Given the description of an element on the screen output the (x, y) to click on. 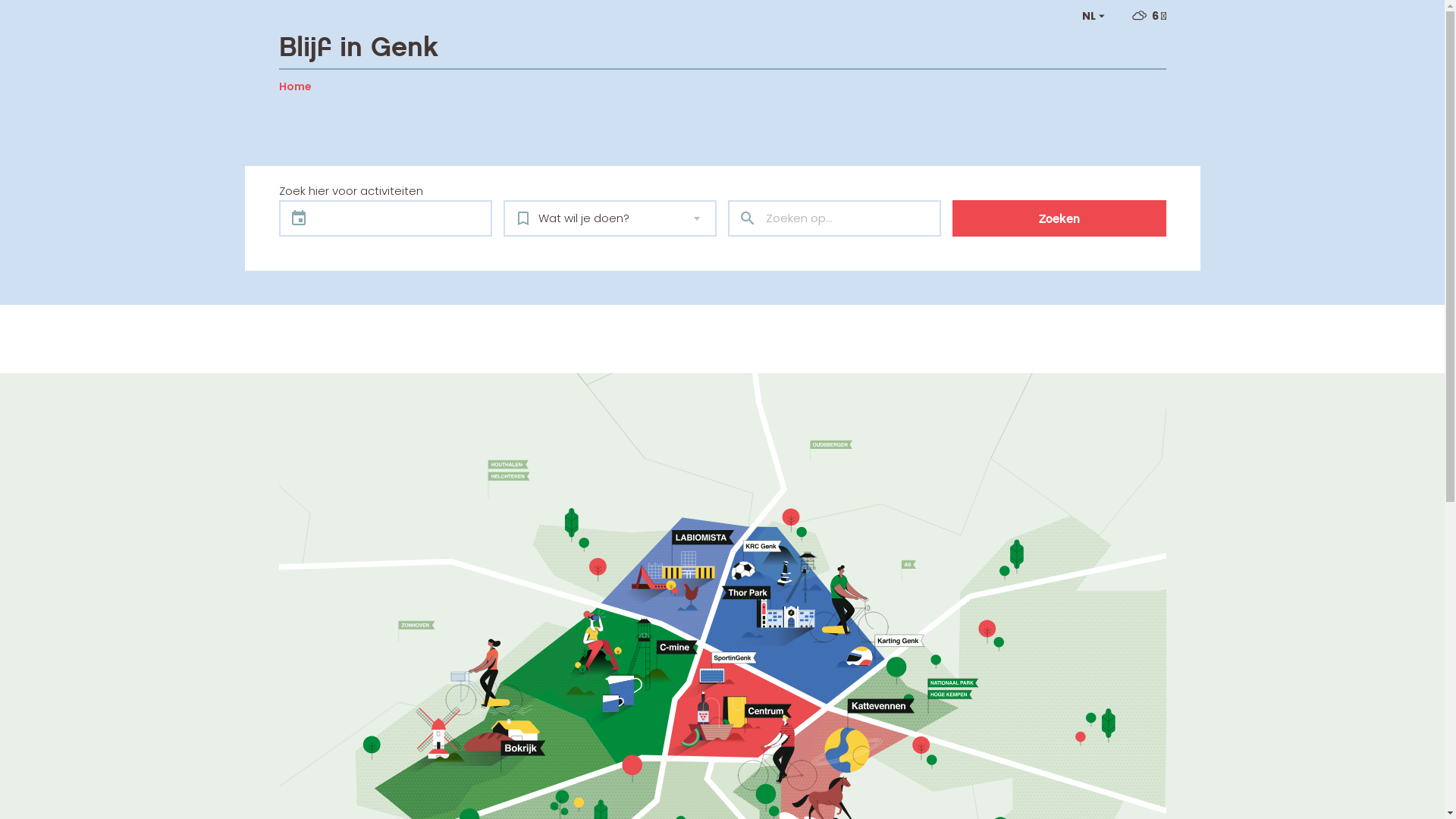
Zoeken Element type: text (1058, 218)
Blijf in Genk Element type: text (358, 46)
Home Element type: text (295, 86)
NL Element type: text (1094, 16)
